Given the description of an element on the screen output the (x, y) to click on. 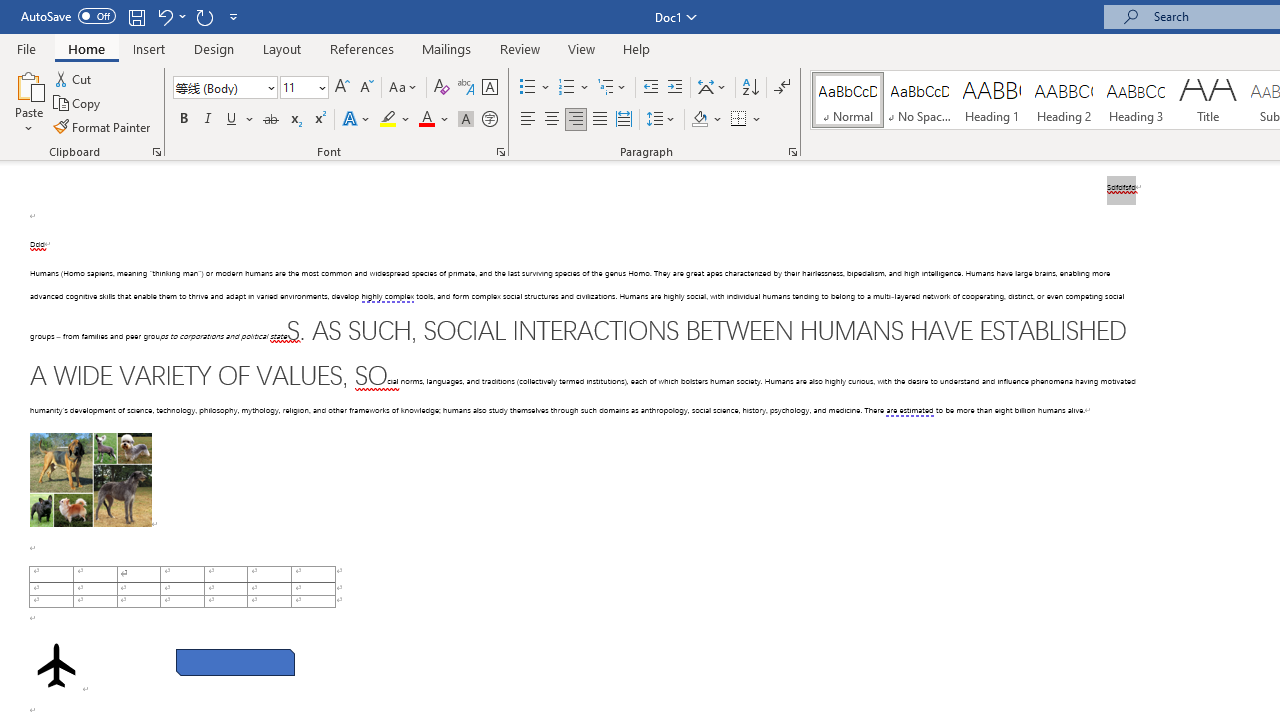
Font Color (434, 119)
Subscript (294, 119)
Superscript (319, 119)
